Given the description of an element on the screen output the (x, y) to click on. 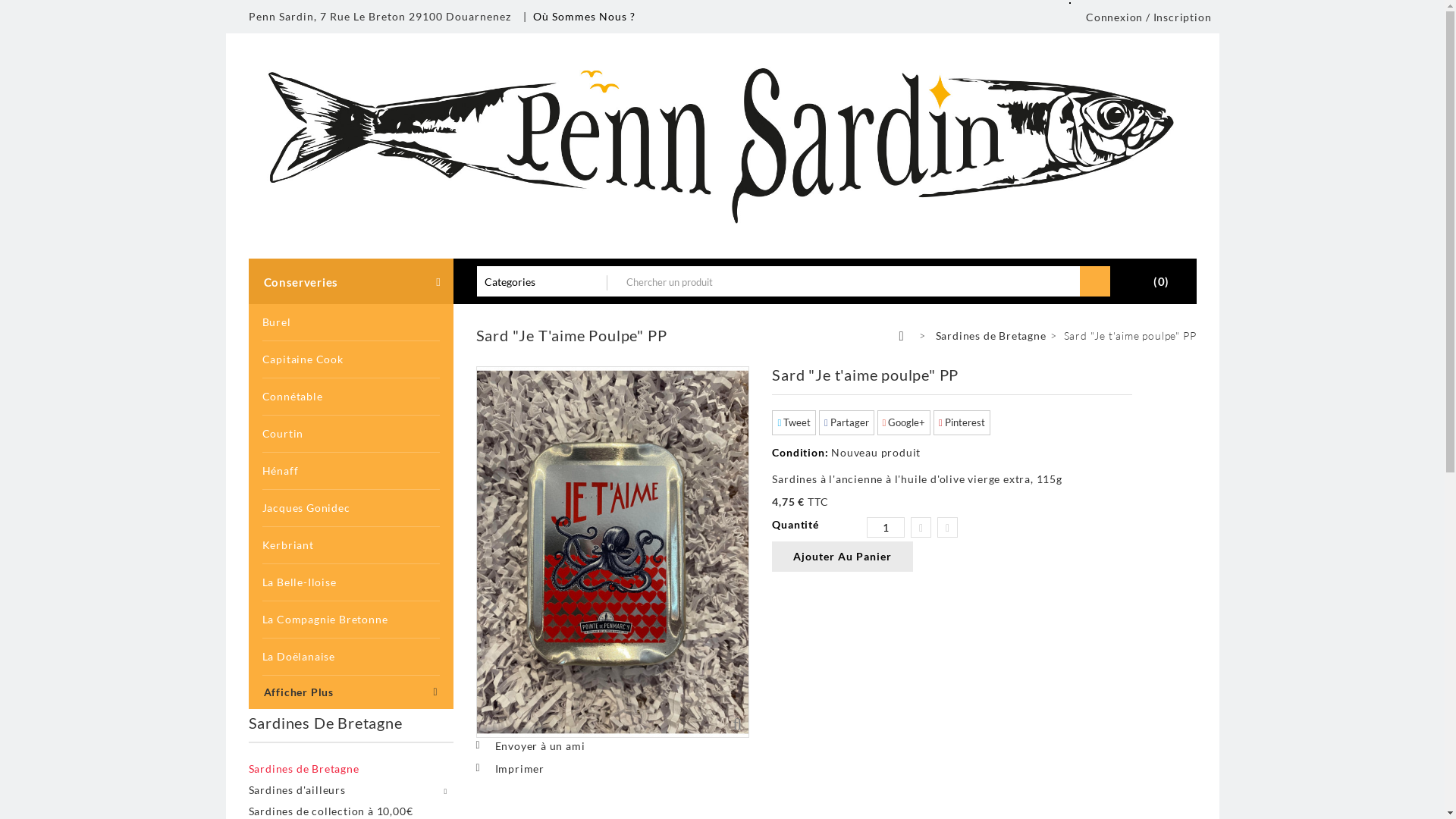
Kerbriant Element type: text (351, 545)
Imprimer Element type: text (510, 768)
Capitaine Cook Element type: text (351, 359)
Connexion / Inscription Element type: text (1144, 16)
Jacques Gonidec Element type: text (351, 508)
La Belle-Iloise Element type: text (351, 582)
Sardines de Bretagne Element type: text (350, 768)
Ajouter Au Panier Element type: text (842, 556)
La Compagnie Bretonne Element type: text (351, 619)
Sardines de Bretagne Element type: text (990, 335)
Partager Element type: text (846, 422)
Burel Element type: text (351, 322)
Courtin Element type: text (351, 433)
Google+ Element type: text (904, 422)
Sard "Je t'aime poulpe" PP Element type: hover (612, 552)
Tweet Element type: text (793, 422)
Sardines d'ailleurs Element type: text (350, 789)
(0) Element type: text (1150, 281)
Penn Sardin Element type: hover (721, 144)
Pinterest Element type: text (961, 422)
